Given the description of an element on the screen output the (x, y) to click on. 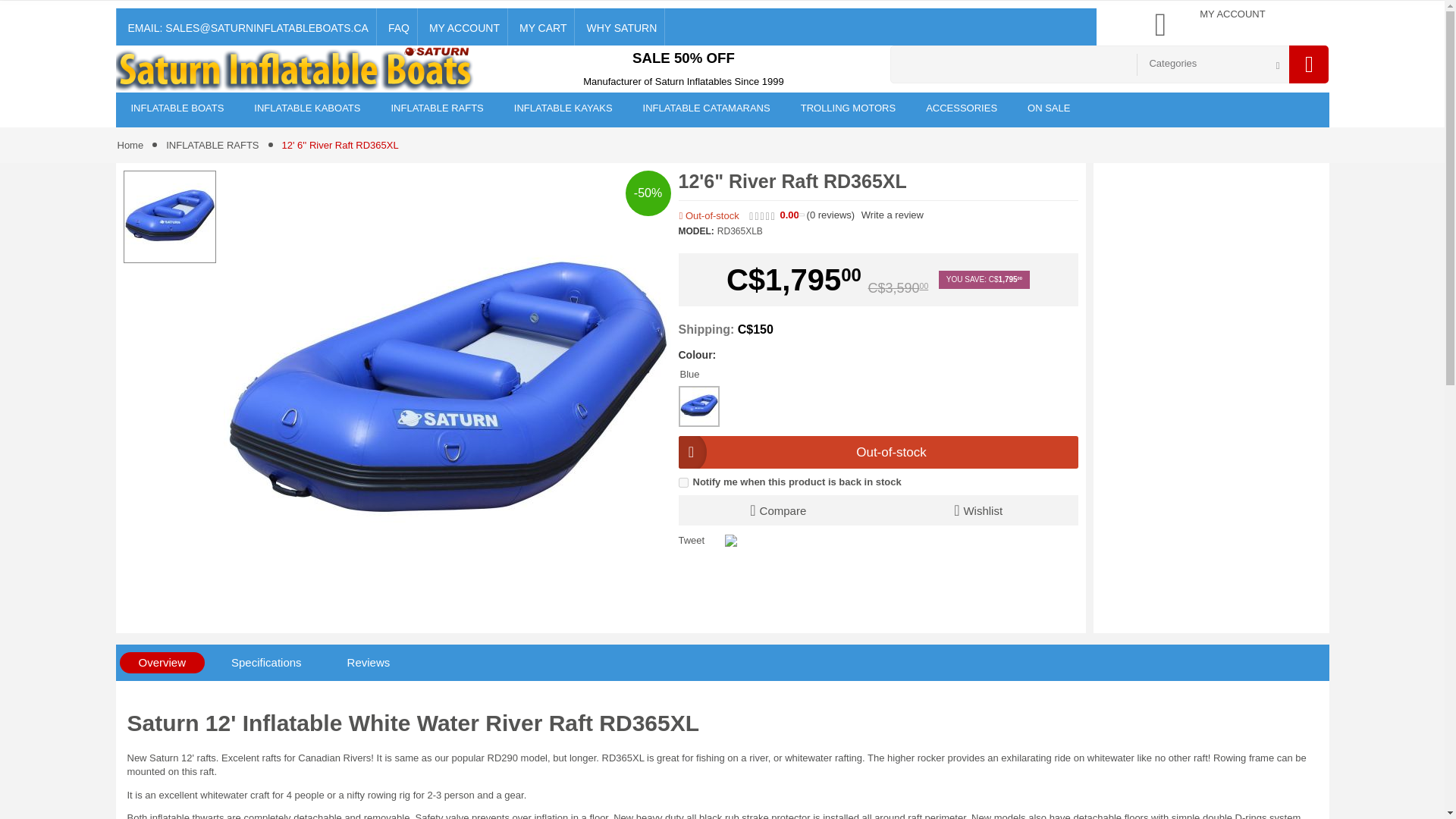
MY CART (541, 26)
INFLATABLE BOATS (176, 109)
WHY SATURN (620, 26)
MY ACCOUNT (462, 26)
on (682, 482)
Saturn Boats Canada (296, 69)
FAQ (397, 26)
Saturn Boats Canada (296, 69)
